Given the description of an element on the screen output the (x, y) to click on. 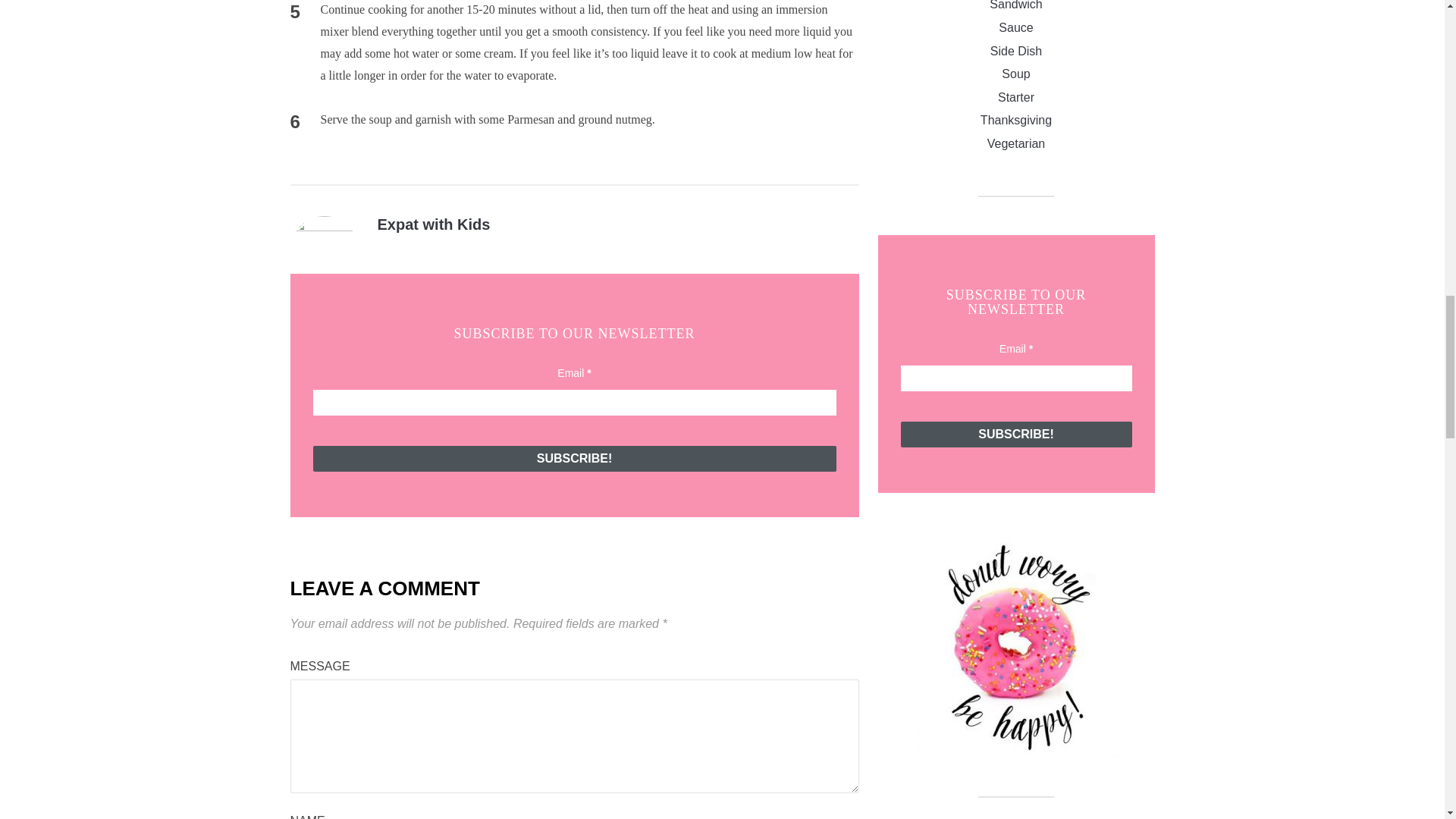
Subscribe! (1016, 434)
Posts by Expat with Kids (433, 224)
Email (1016, 378)
Email (574, 402)
Subscribe! (574, 458)
